Given the description of an element on the screen output the (x, y) to click on. 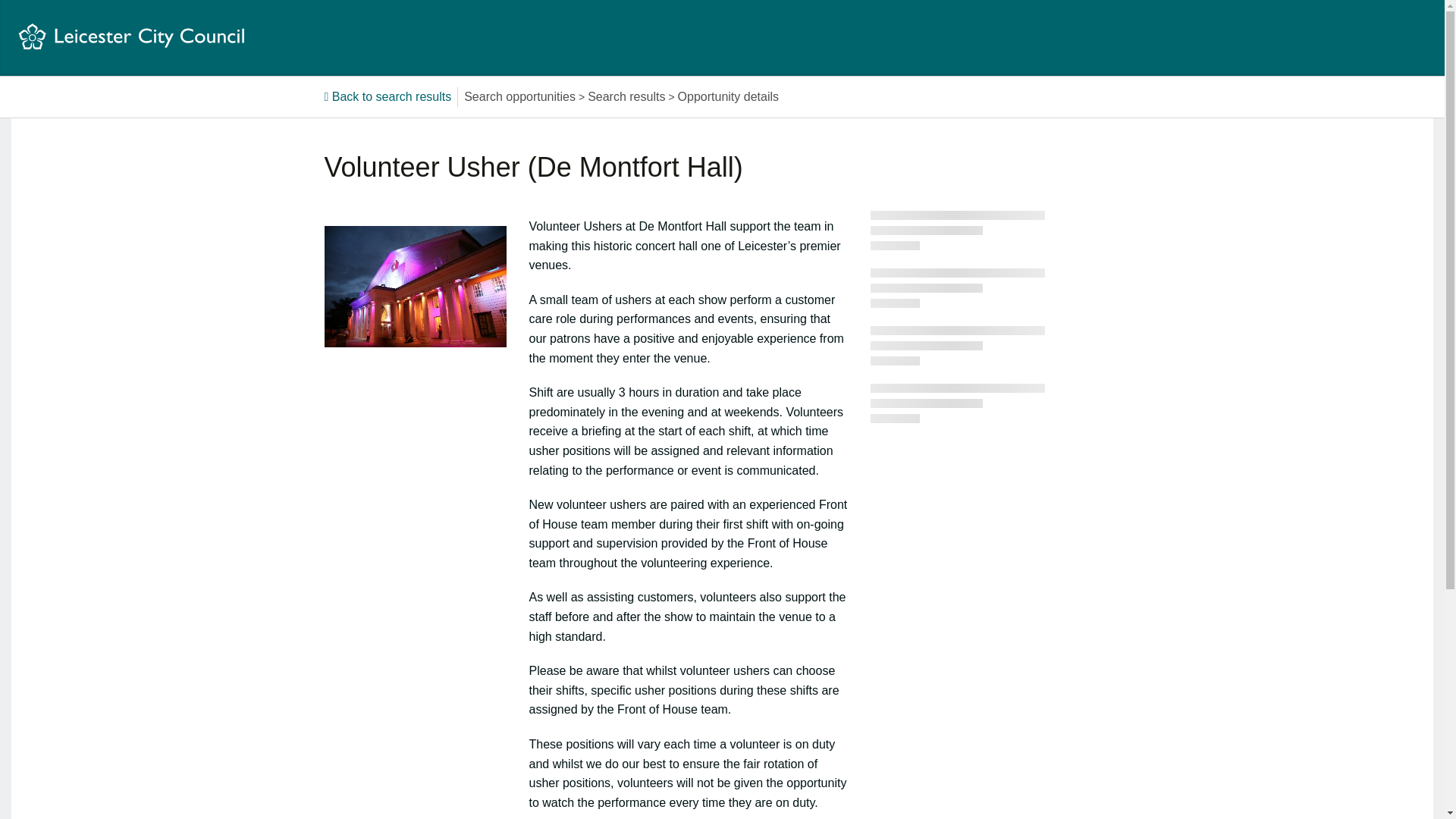
Back to search results (387, 96)
Leicester City Council (130, 35)
